Given the description of an element on the screen output the (x, y) to click on. 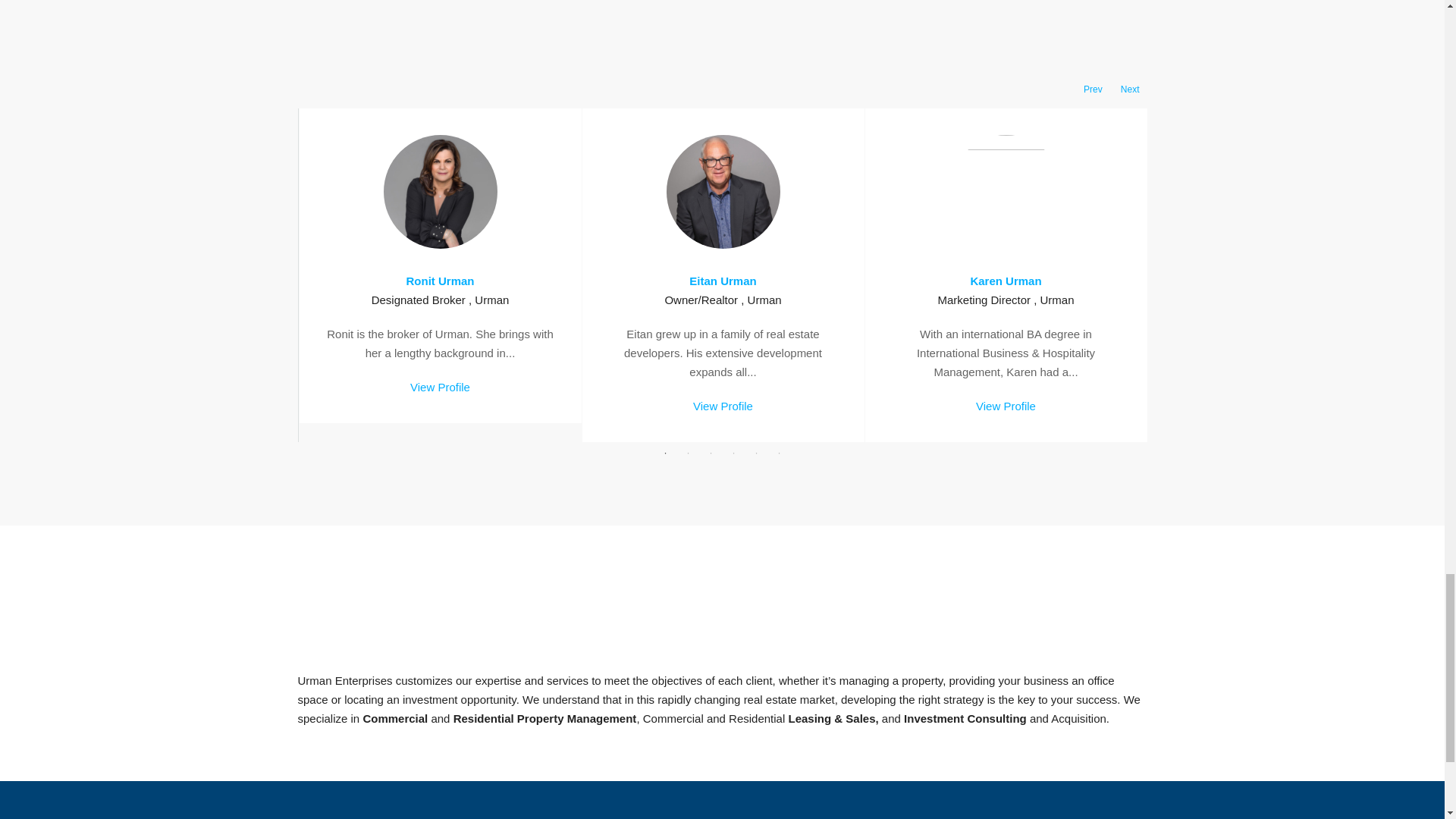
Prev (1092, 88)
Next (1130, 88)
